Given the description of an element on the screen output the (x, y) to click on. 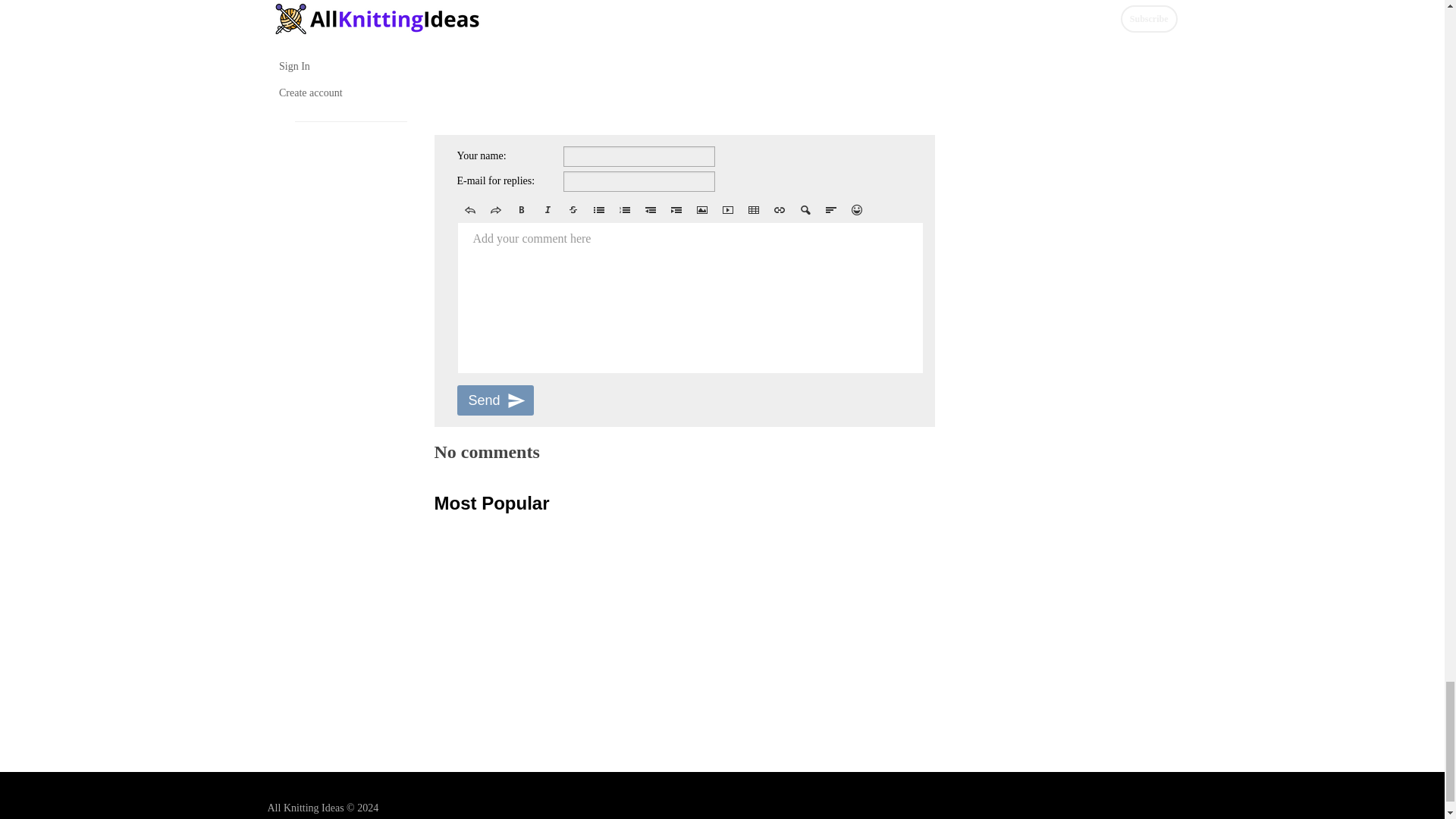
Italic (546, 209)
Redo (494, 209)
Bold (521, 209)
Deleted (572, 209)
Undo (469, 209)
Send (494, 399)
